Given the description of an element on the screen output the (x, y) to click on. 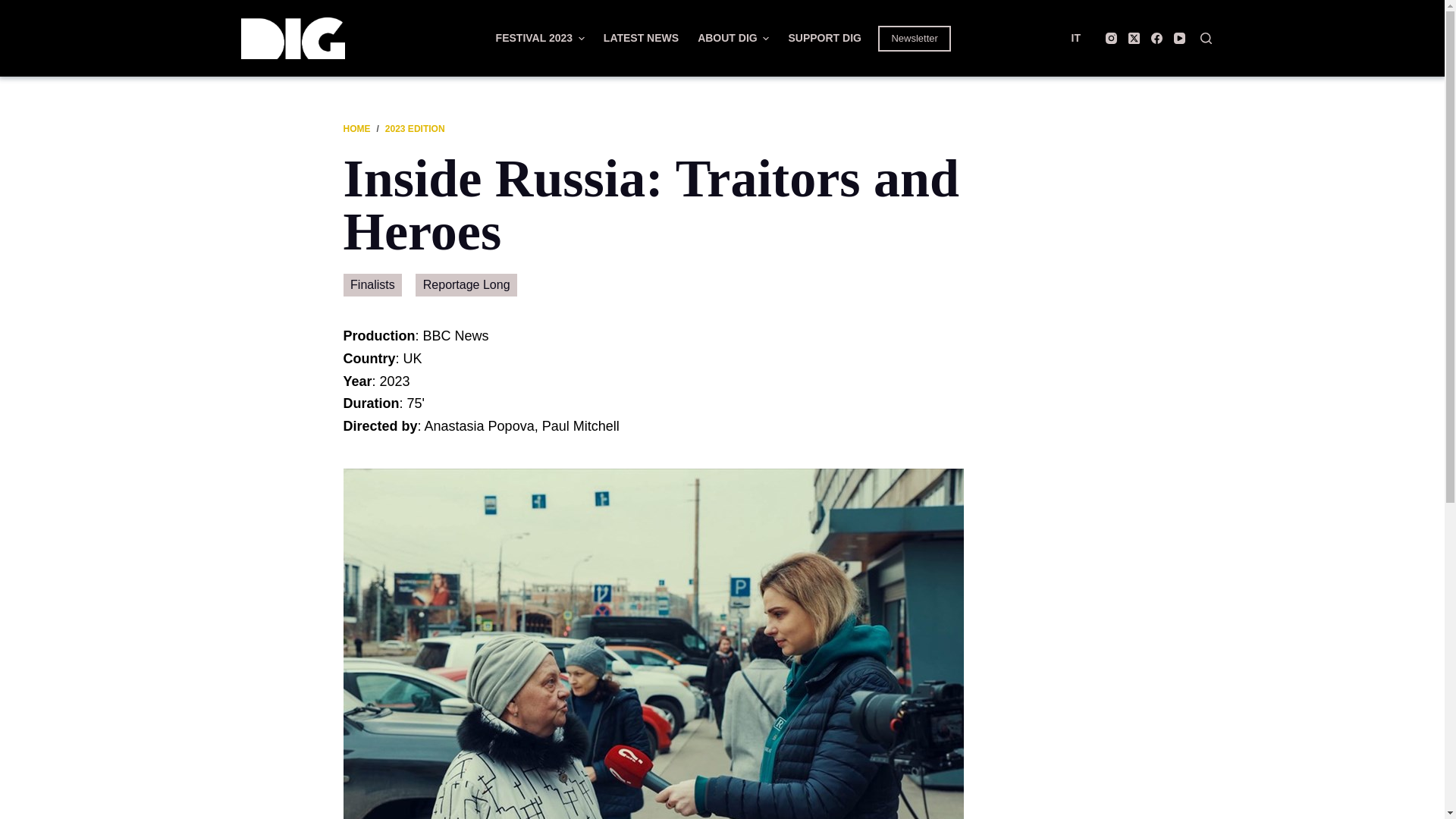
SUPPORT DIG (824, 38)
Skip to content (15, 7)
LATEST NEWS (640, 38)
Inside Russia: Traitors and Heroes (721, 205)
Newsletter (913, 38)
ABOUT DIG (733, 38)
FESTIVAL 2023 (540, 38)
